Given the description of an element on the screen output the (x, y) to click on. 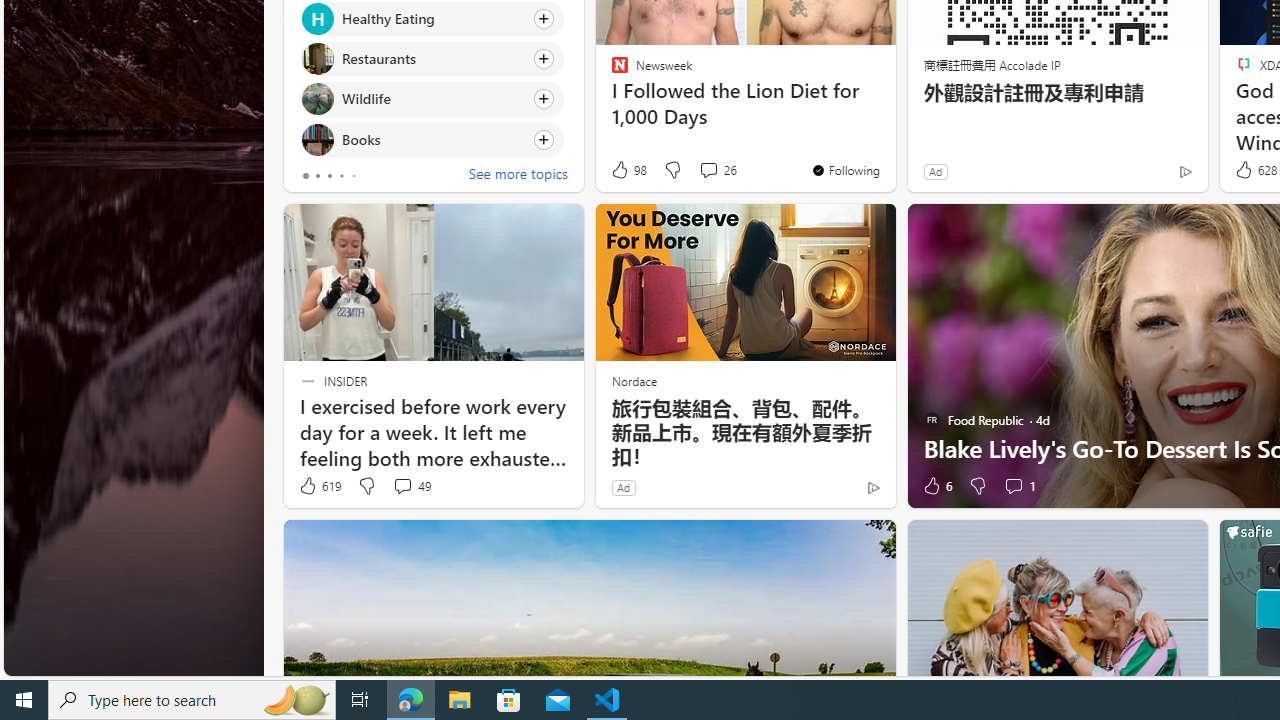
Restaurants (317, 59)
